Given the description of an element on the screen output the (x, y) to click on. 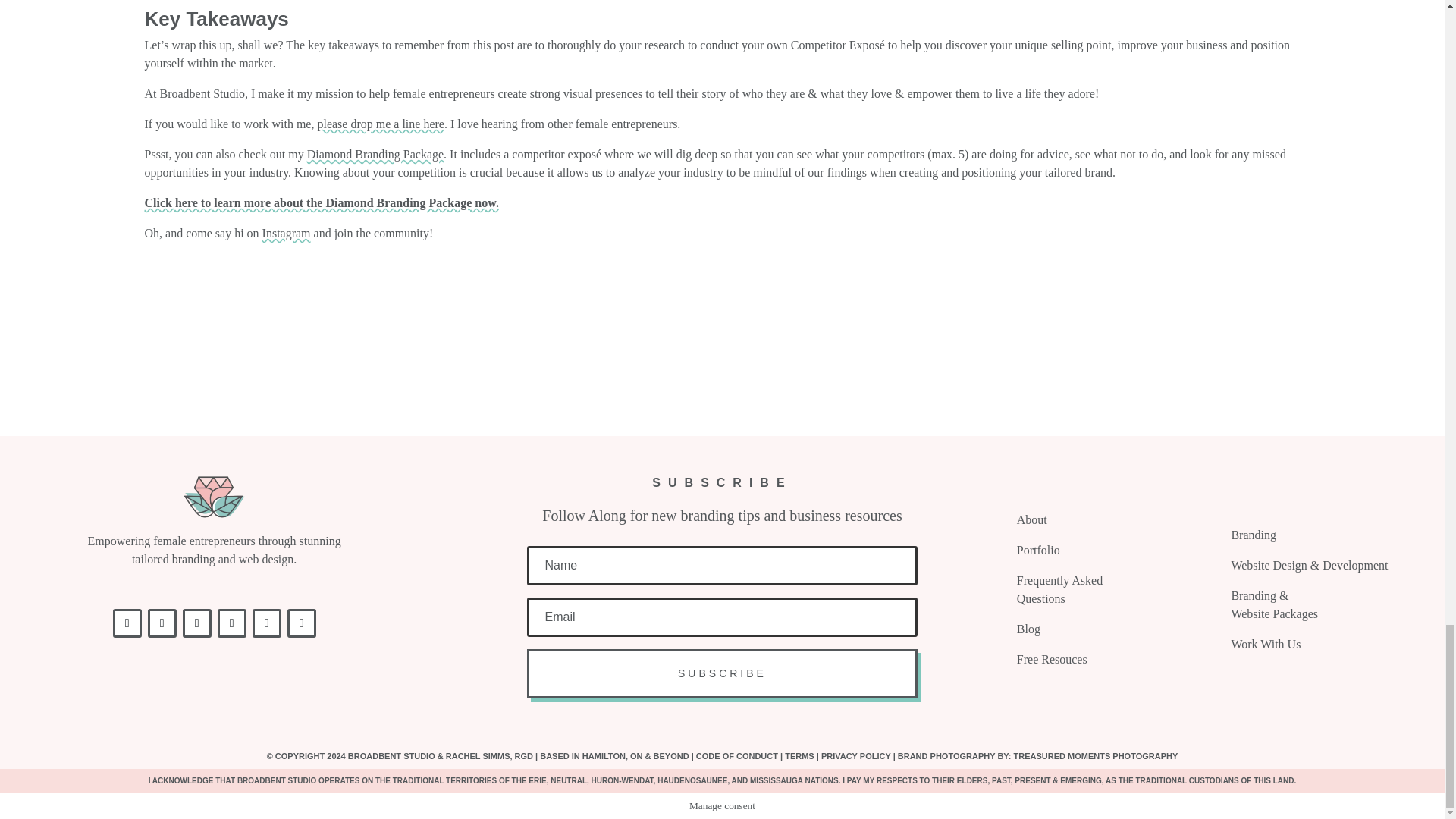
Diamond Branding Package (375, 154)
Follow on Instagram (162, 623)
Contact (380, 123)
Broadbent Studio Flower Icon (214, 496)
Follow on Facebook (127, 623)
Branding Packages (375, 154)
Follow on LinkedIn (231, 623)
Instagram (286, 232)
Follow on Behance (197, 623)
